Given the description of an element on the screen output the (x, y) to click on. 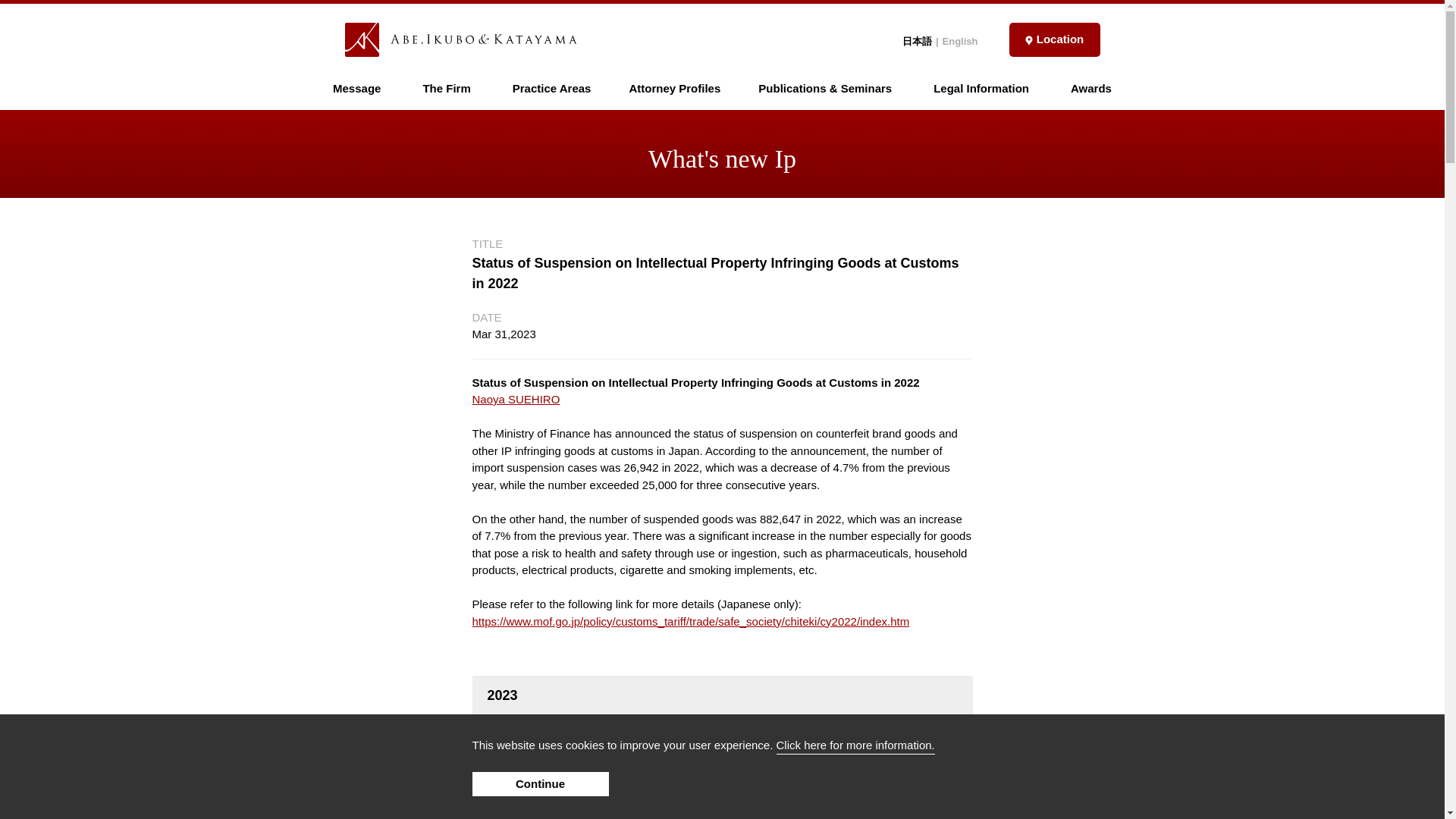
Location (1054, 39)
The Firm (446, 88)
Naoya SUEHIRO (515, 399)
Trademark Protection for Single Color in Japan (598, 769)
Message (356, 88)
Awards (1091, 88)
